Given the description of an element on the screen output the (x, y) to click on. 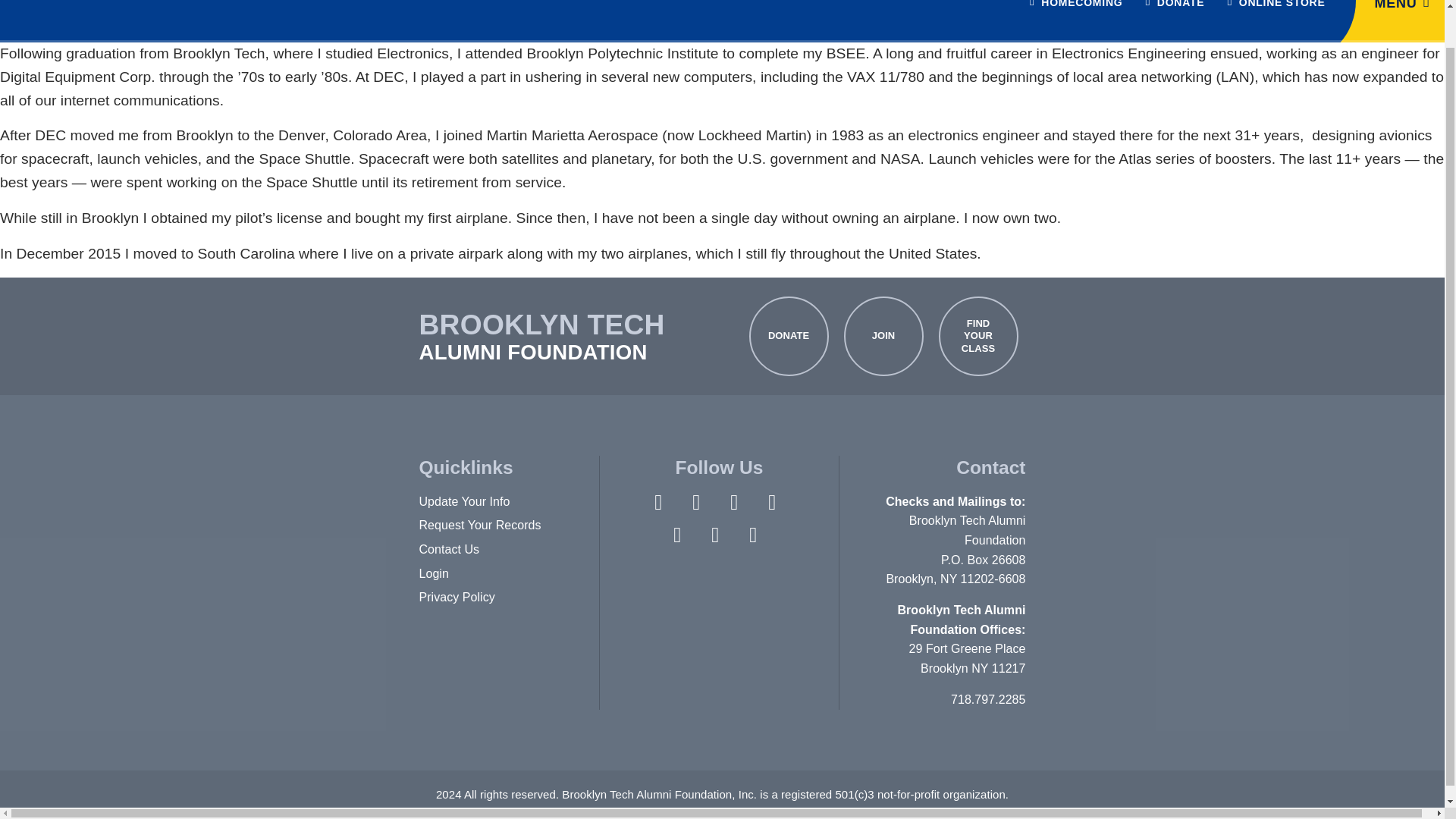
BTAF Logo Final Tech White (113, 14)
DONATE (1174, 21)
ONLINE STORE (1275, 21)
HOMECOMING (1075, 21)
